Given the description of an element on the screen output the (x, y) to click on. 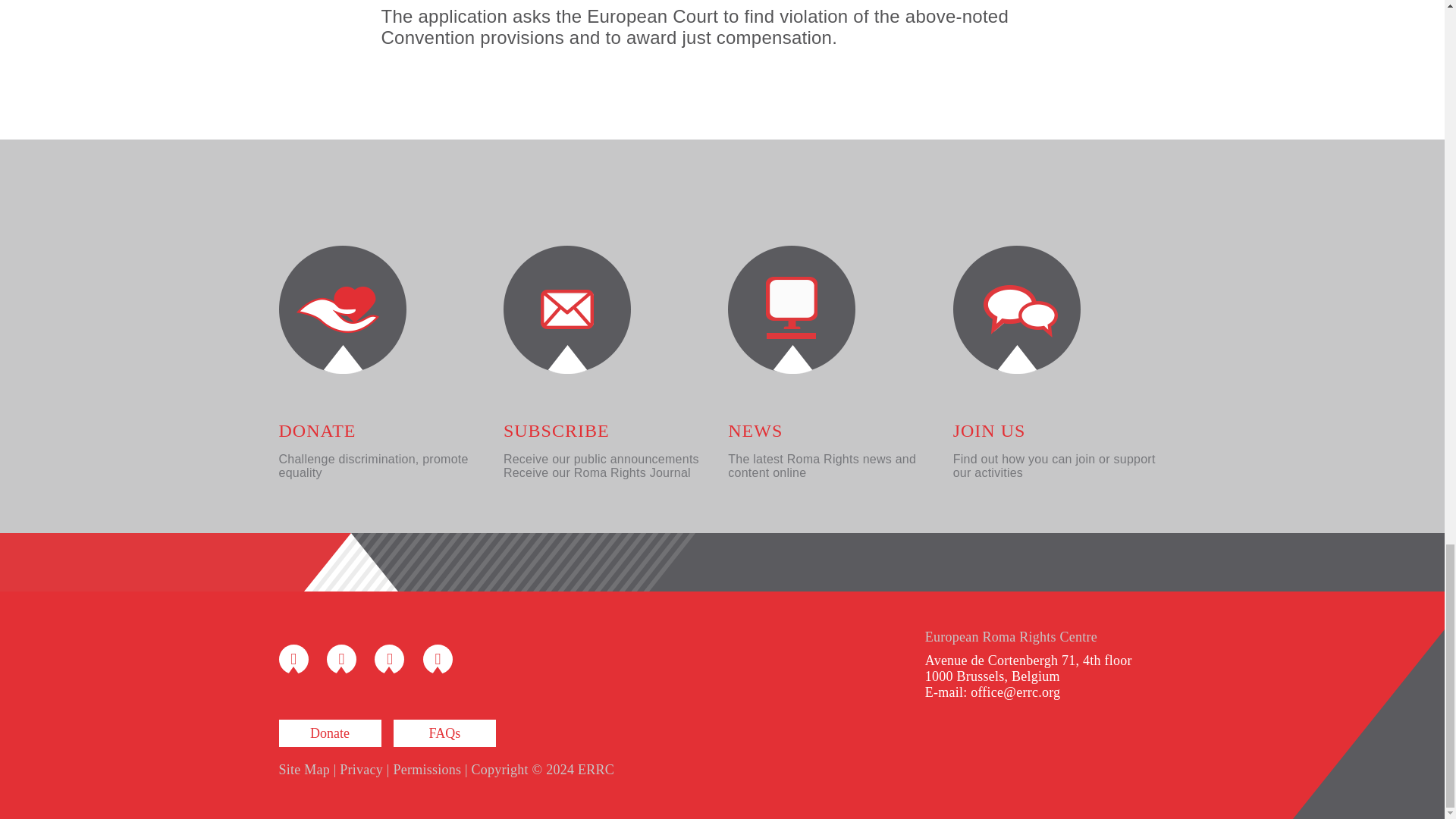
NEWS (755, 430)
SUBSCRIBE (556, 430)
DONATE (317, 430)
